Given the description of an element on the screen output the (x, y) to click on. 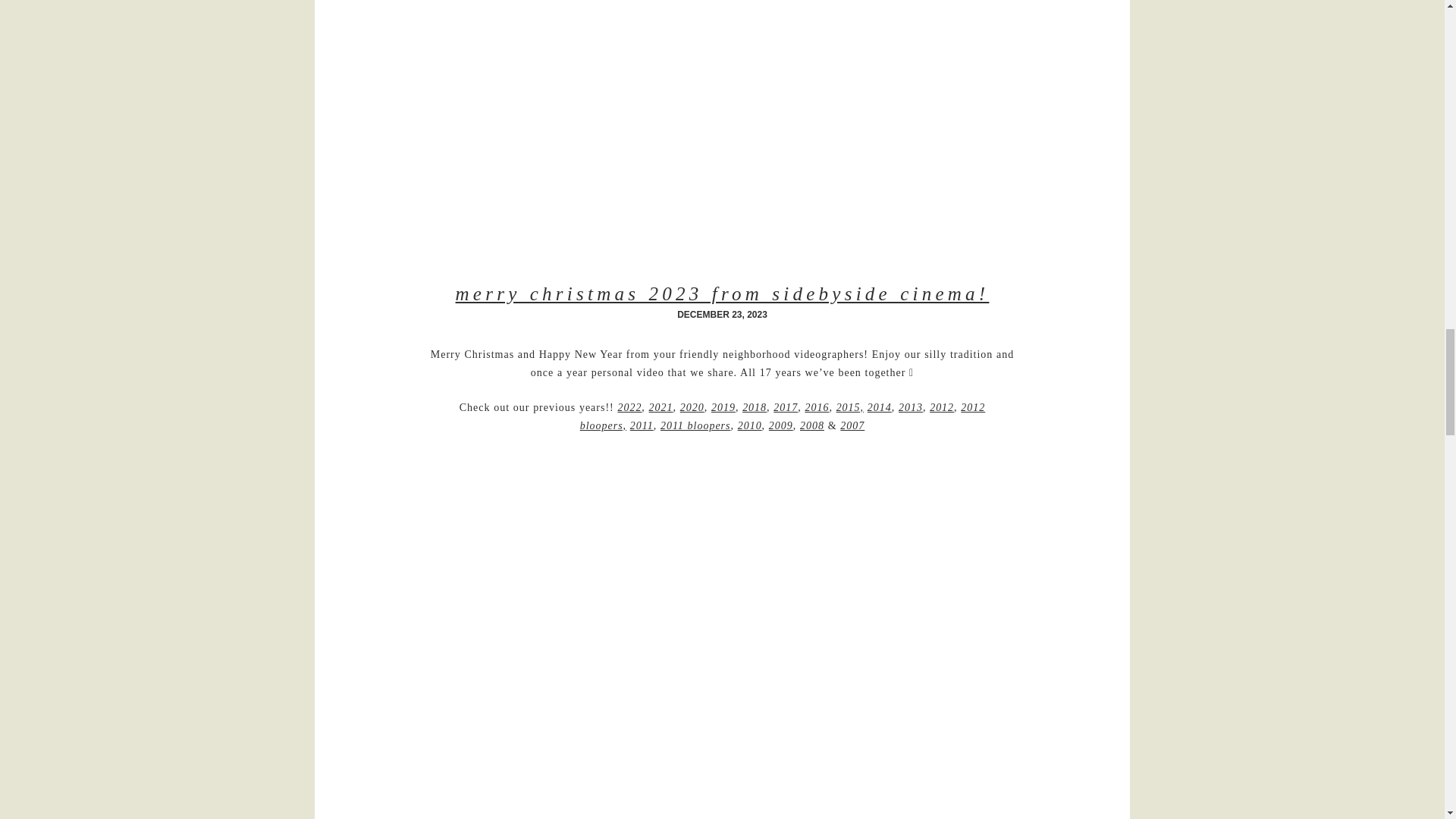
2022 (629, 407)
2020 (691, 407)
Permalink to Merry Christmas 2023 from SidebySide Cinema! (722, 293)
2021 (660, 407)
2019 (723, 407)
2018 (754, 407)
2017 (785, 407)
merry christmas 2023 from sidebyside cinema! (722, 293)
